Given the description of an element on the screen output the (x, y) to click on. 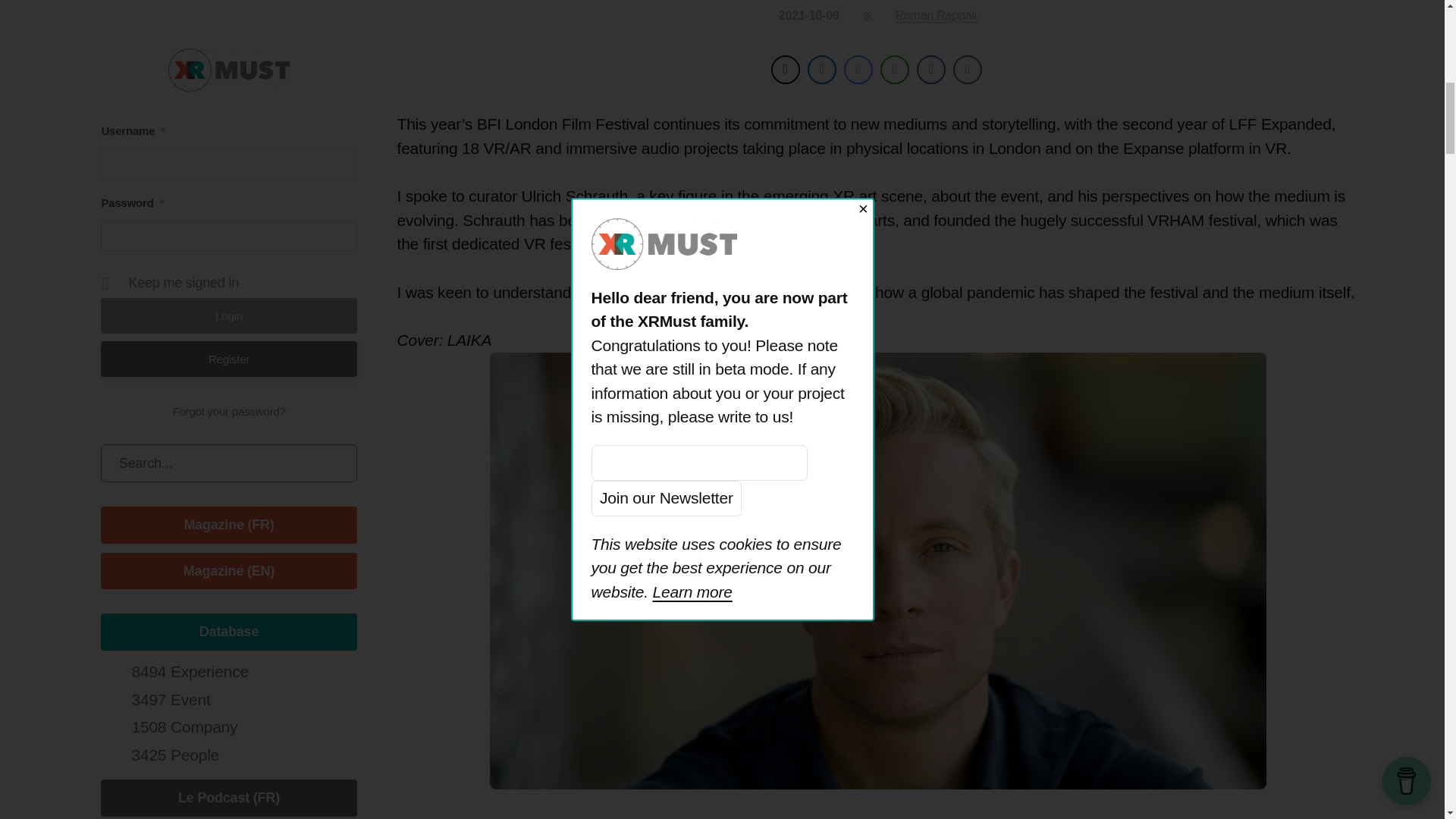
Roman Rappak (936, 15)
About Us (228, 56)
Instagram (298, 121)
X (228, 121)
YouTube (194, 121)
LinkedIn (159, 121)
Facebook (263, 121)
